Given the description of an element on the screen output the (x, y) to click on. 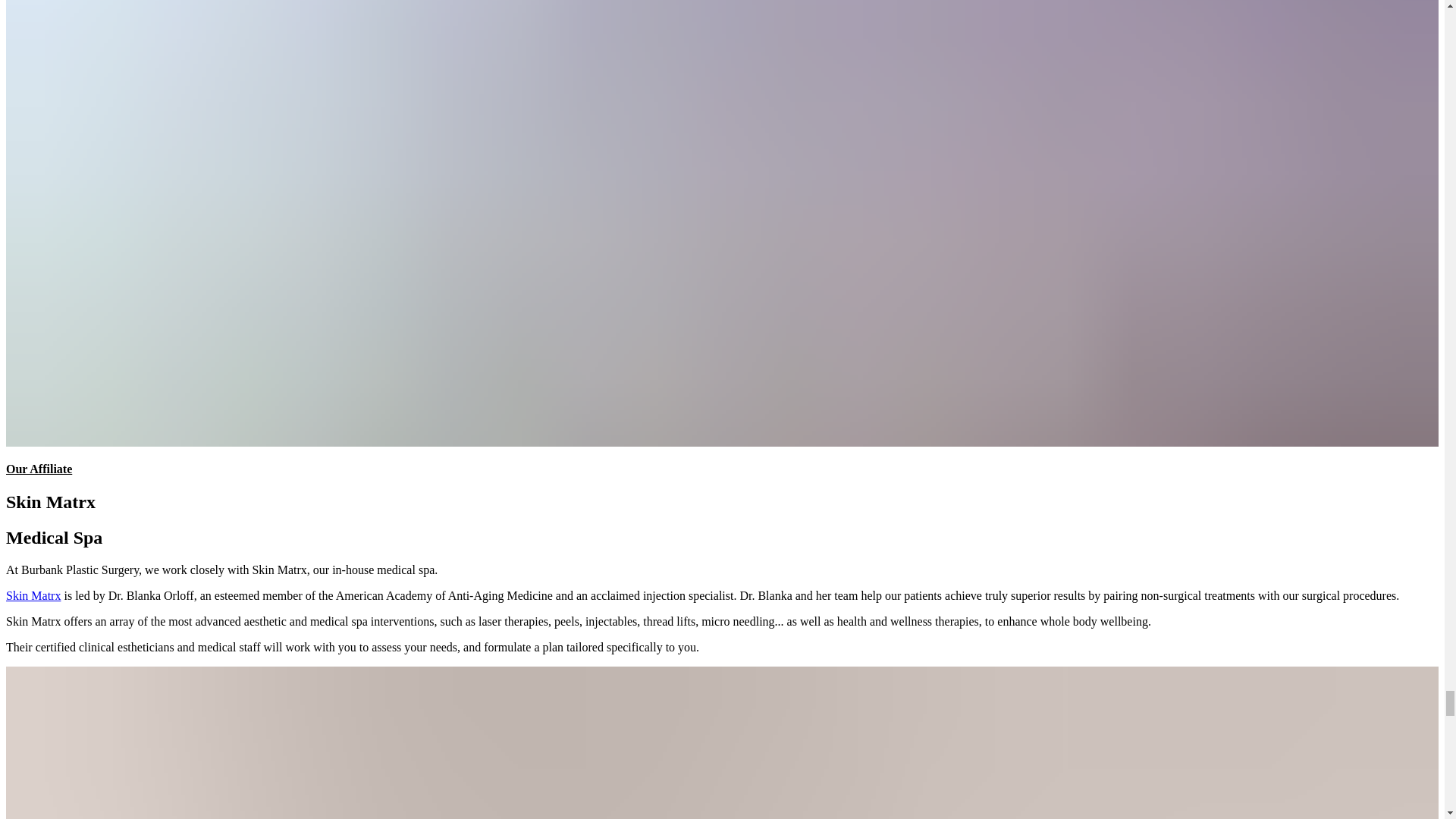
Skin Matrx (33, 594)
